Given the description of an element on the screen output the (x, y) to click on. 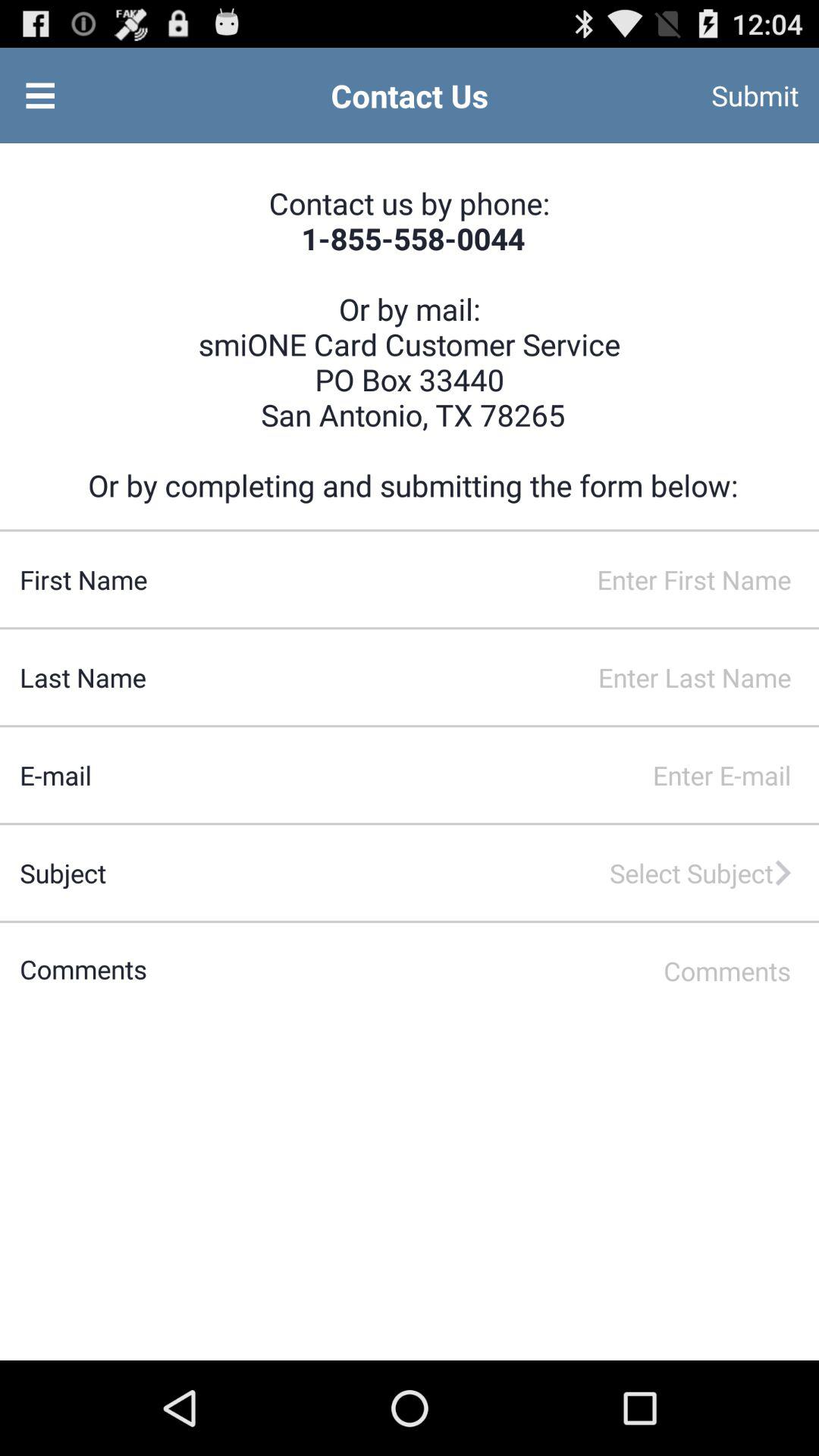
input last name (482, 676)
